Given the description of an element on the screen output the (x, y) to click on. 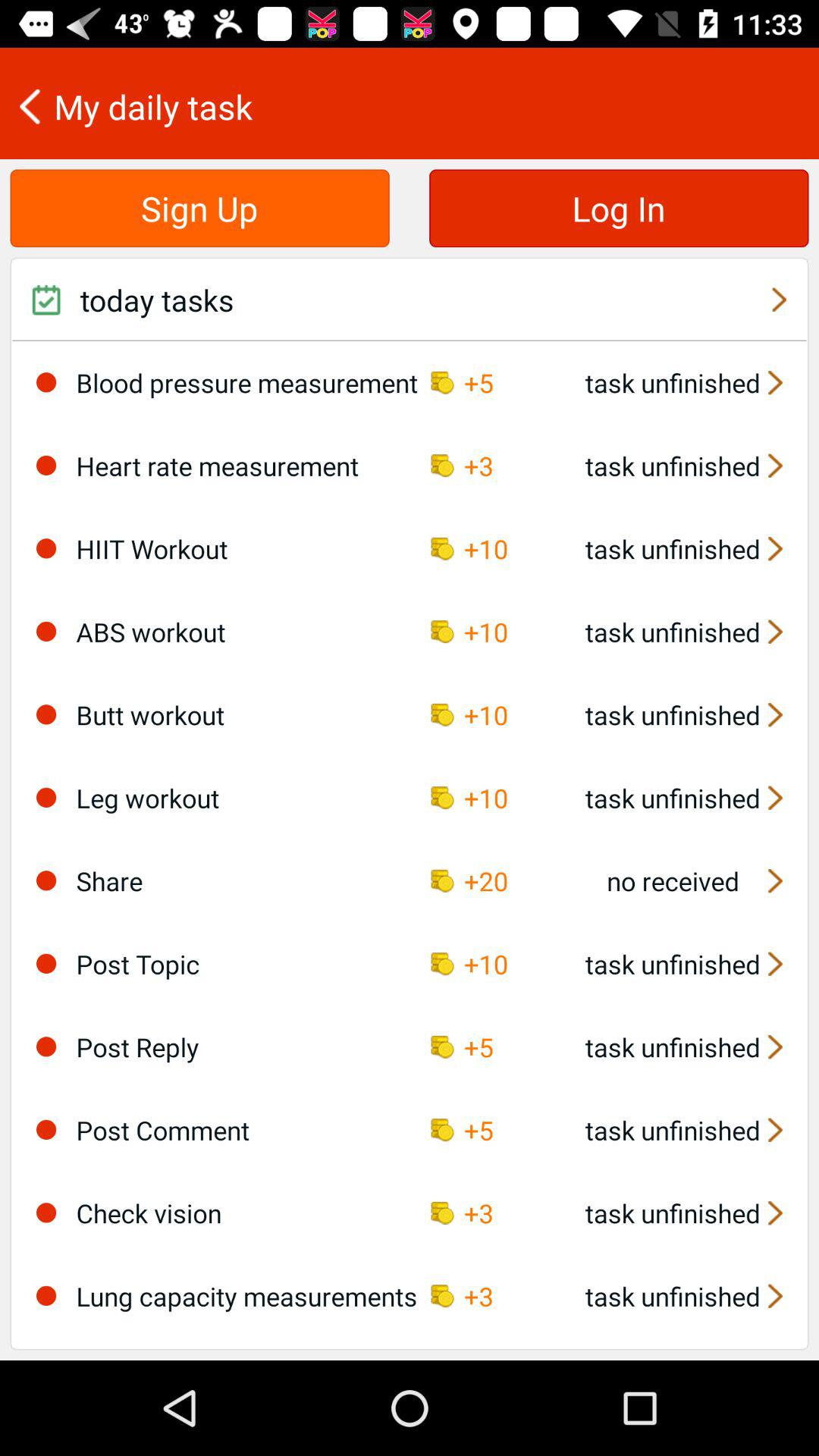
select item next to share item (46, 880)
